Given the description of an element on the screen output the (x, y) to click on. 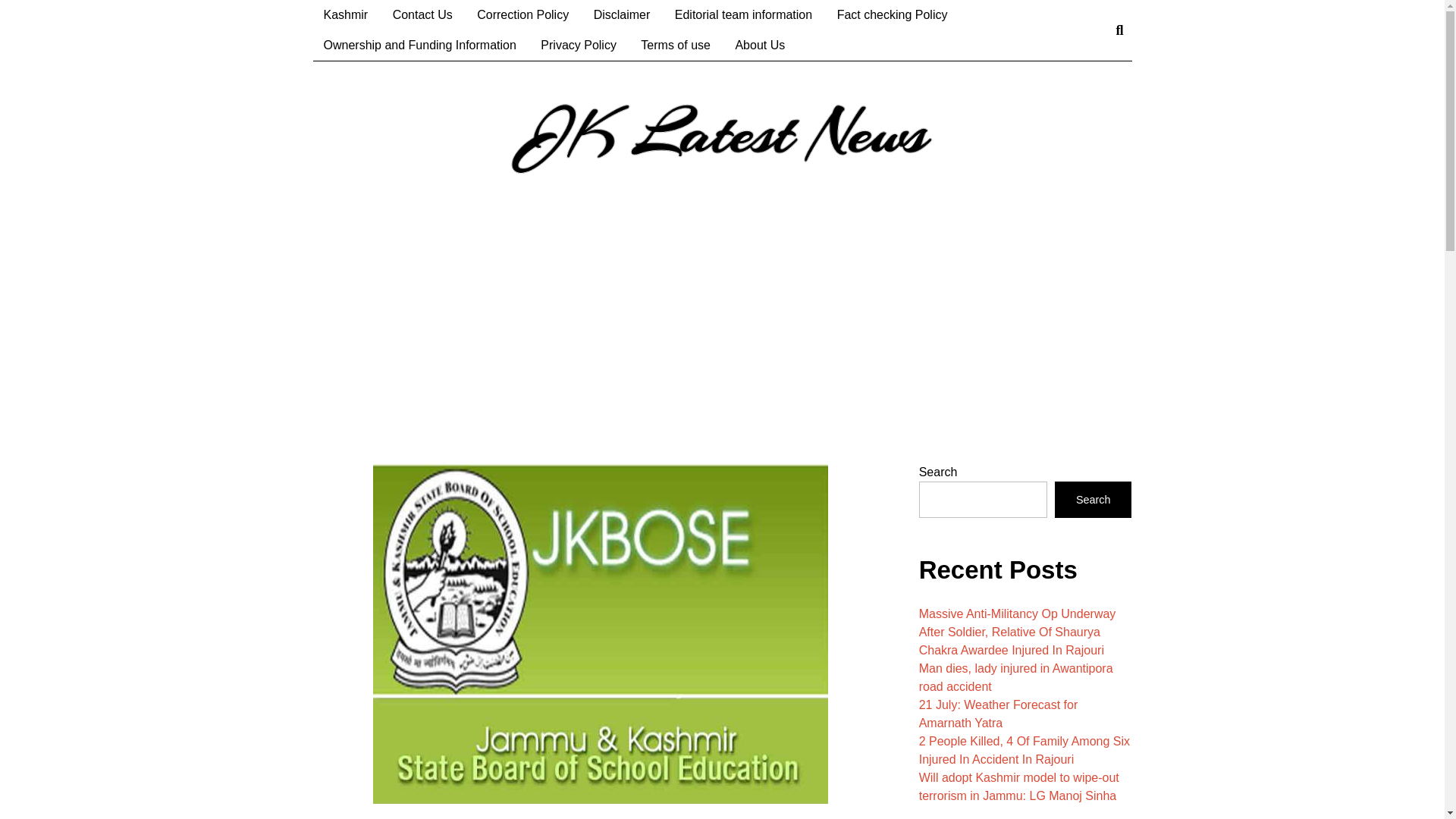
Terms of use (675, 45)
Contact Us (422, 15)
Search (1093, 499)
Correction Policy (522, 15)
21 July: Weather Forecast for Amarnath Yatra (998, 713)
Editorial team information (742, 15)
About Us (758, 45)
Disclaimer (622, 15)
